Given the description of an element on the screen output the (x, y) to click on. 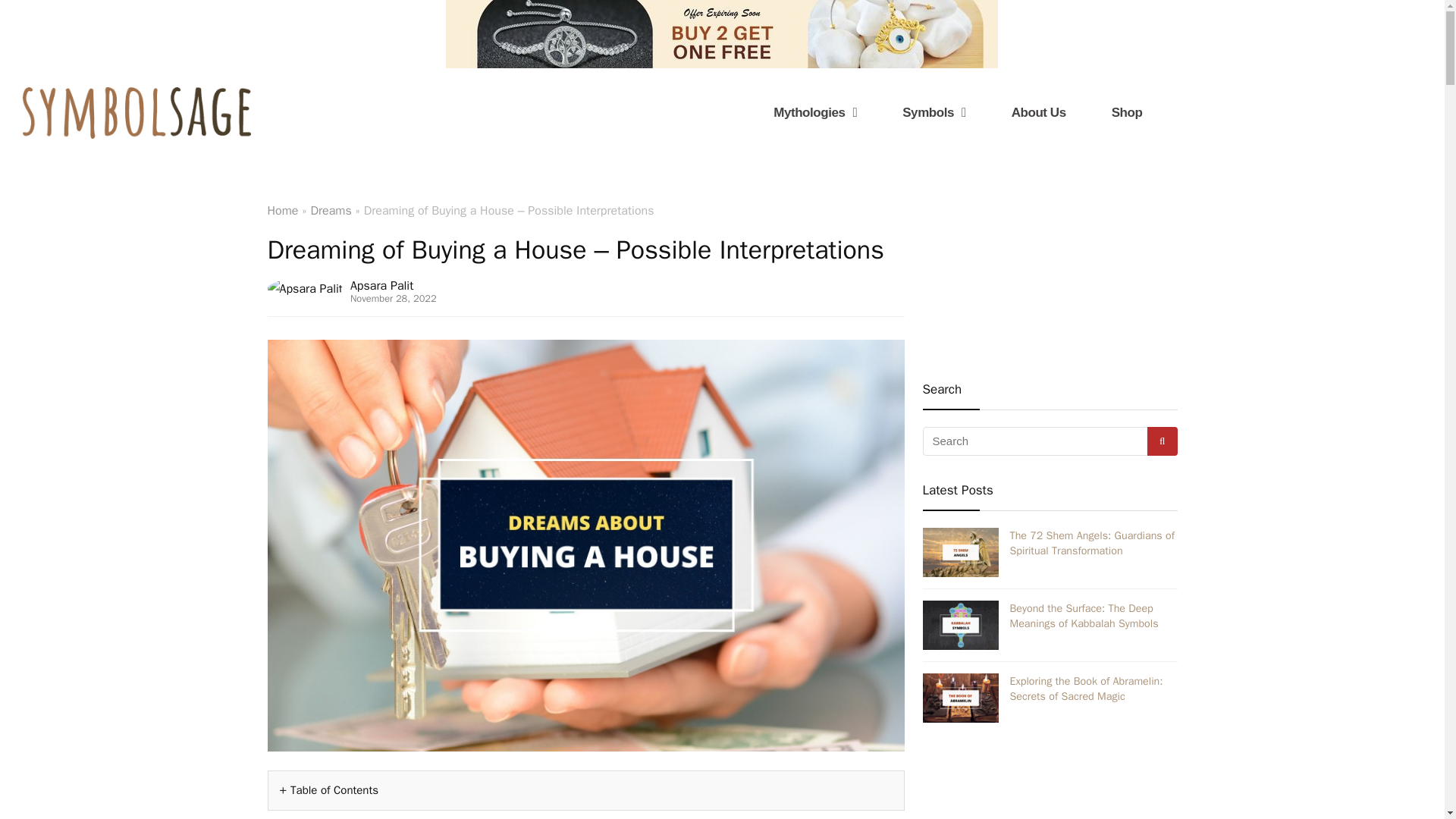
About Us (1038, 112)
Mythologies (815, 112)
Symbols (932, 112)
Shop (1126, 112)
Dreams (330, 210)
Symbol Sage Sale Banner (721, 33)
Home (282, 210)
